Given the description of an element on the screen output the (x, y) to click on. 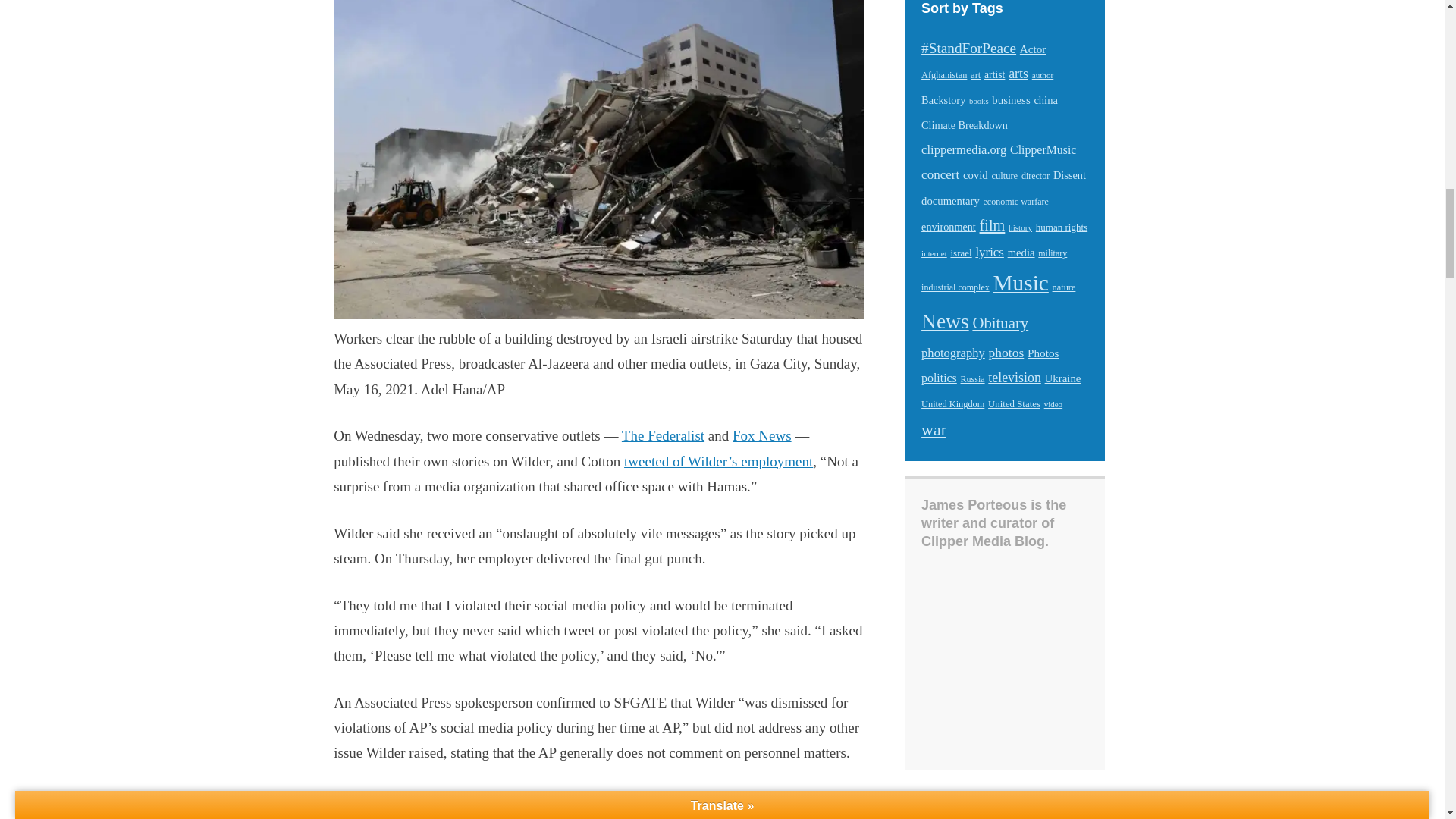
Fox News (762, 435)
The Federalist (662, 435)
